Given the description of an element on the screen output the (x, y) to click on. 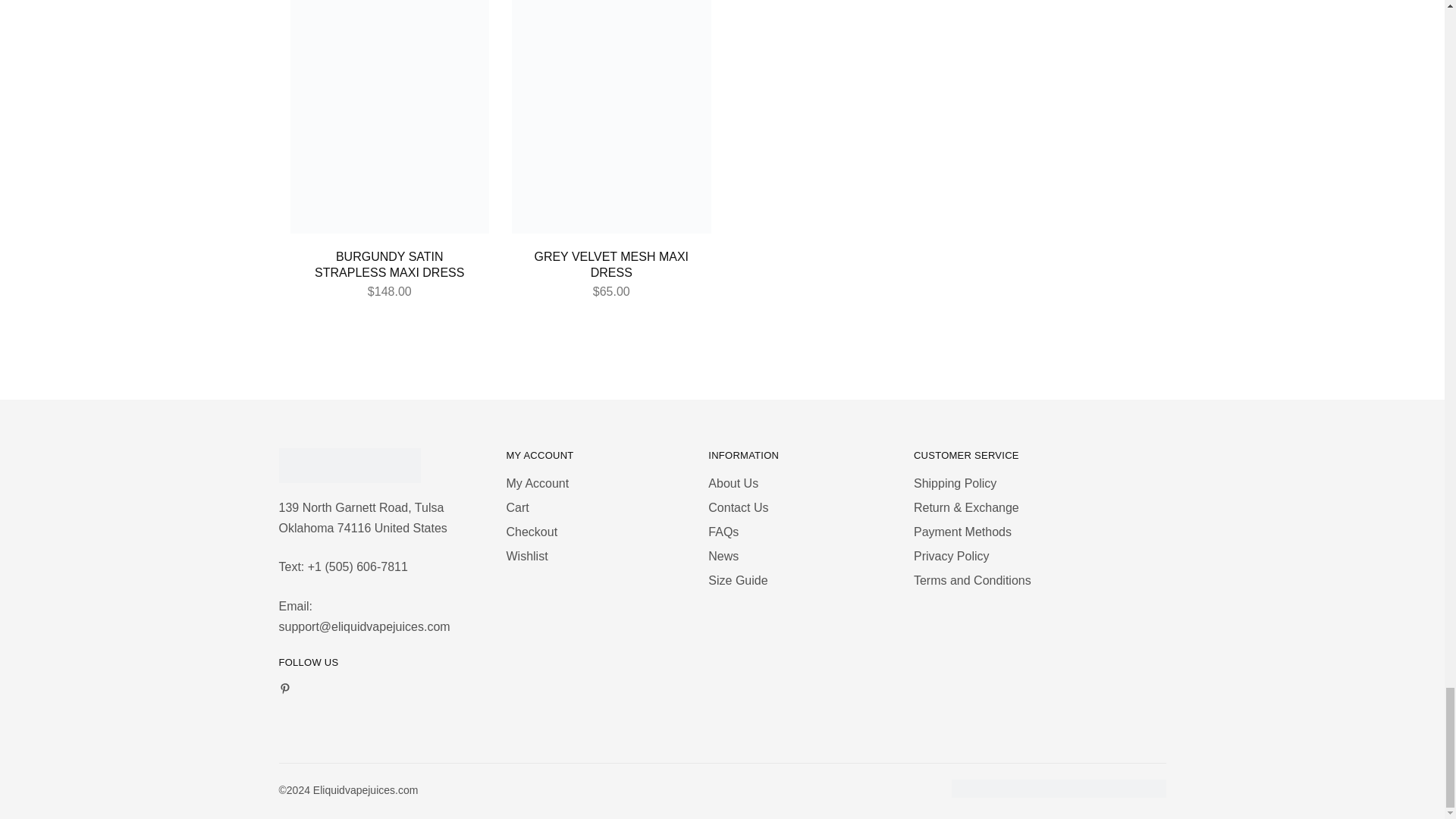
Pinterest (284, 690)
